Given the description of an element on the screen output the (x, y) to click on. 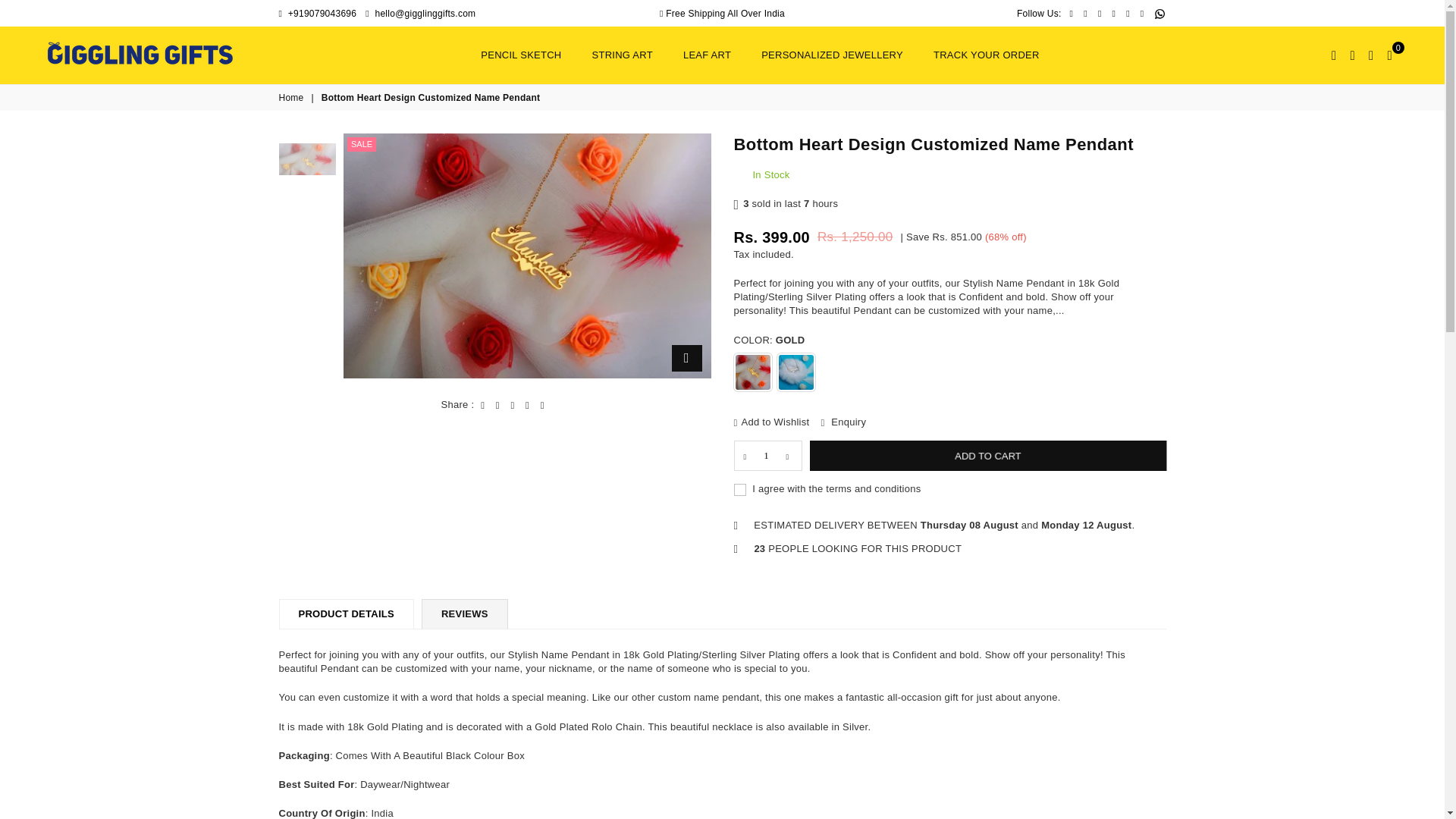
Pinterest (1099, 13)
Whatsapp (1160, 13)
Giggling Gifts on Facebook (1071, 13)
GIGGLING GIFTS (139, 53)
Giggling Gifts on Whatsapp (1160, 13)
Twitter (1085, 13)
STRING ART (621, 55)
Giggling Gifts on YouTube (1142, 13)
Back to the home page (292, 97)
PENCIL SKETCH (520, 55)
Giggling Gifts on Linkedin (1128, 13)
Instagram (1113, 13)
Linkedin (1128, 13)
Giggling Gifts on Twitter (1085, 13)
Giggling Gifts on Pinterest (1099, 13)
